Given the description of an element on the screen output the (x, y) to click on. 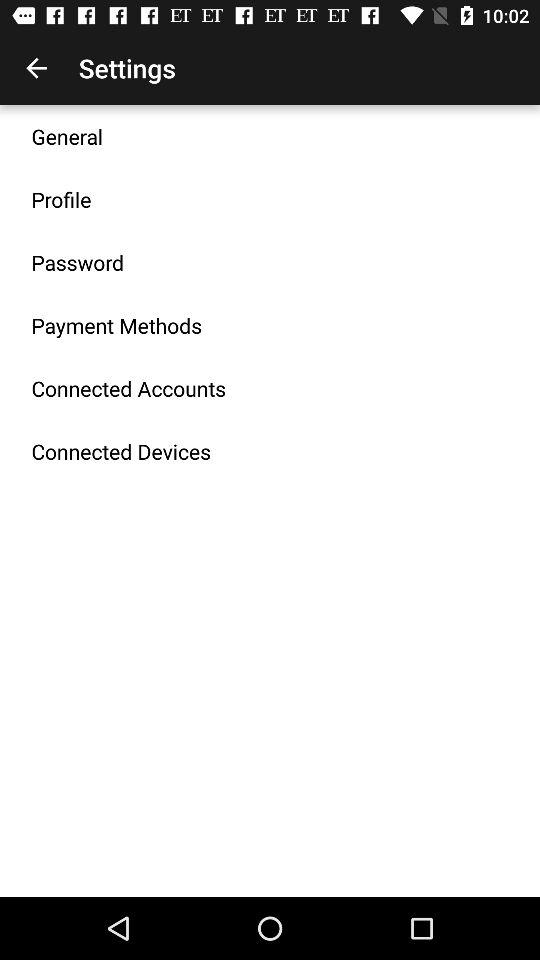
turn on the icon below general (61, 199)
